Given the description of an element on the screen output the (x, y) to click on. 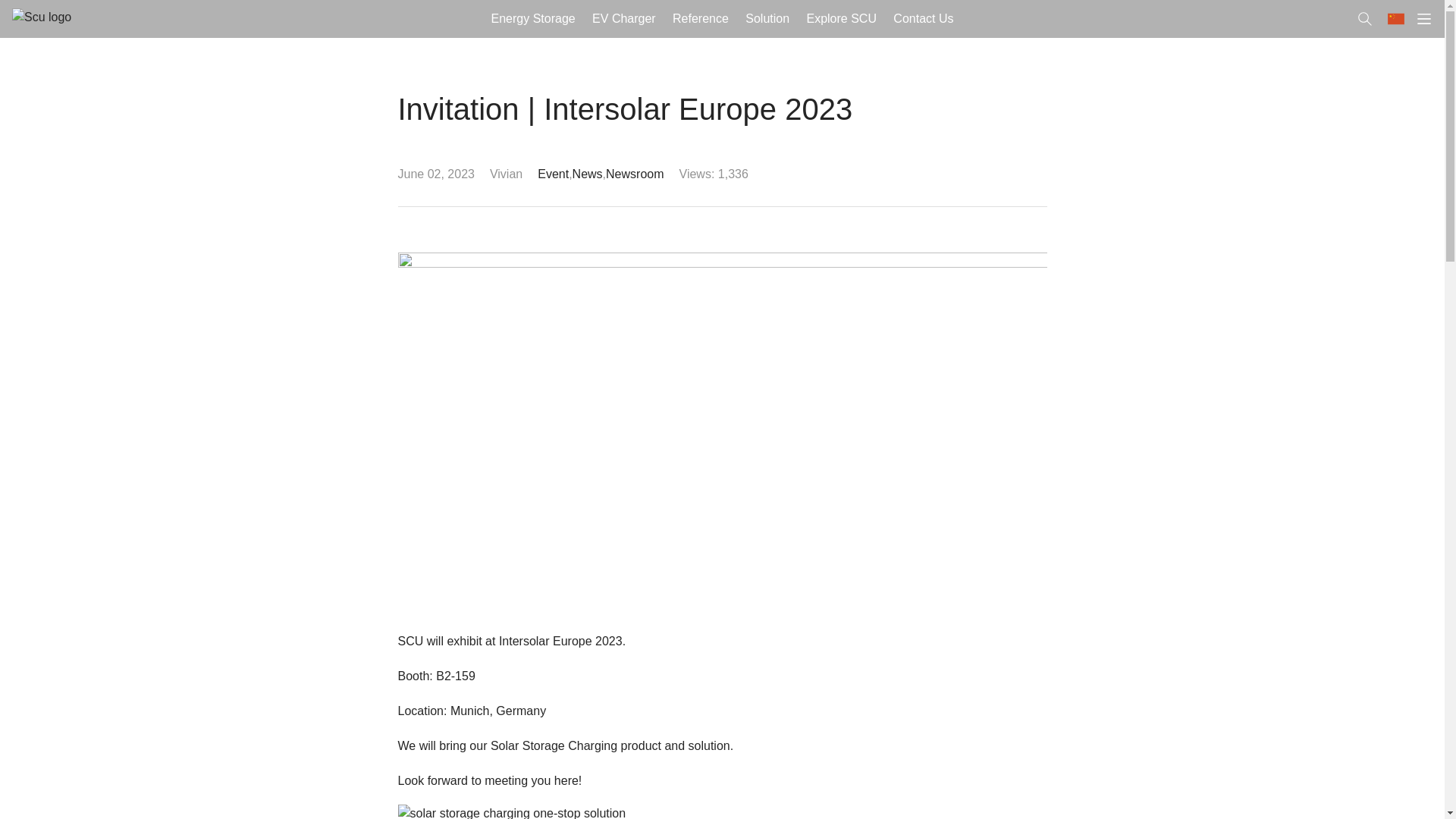
Energy Storage (532, 18)
Contact Us (923, 18)
EV Charger (623, 18)
Search (25, 11)
Reference (699, 18)
Solution (766, 18)
Explore SCU (841, 18)
